Given the description of an element on the screen output the (x, y) to click on. 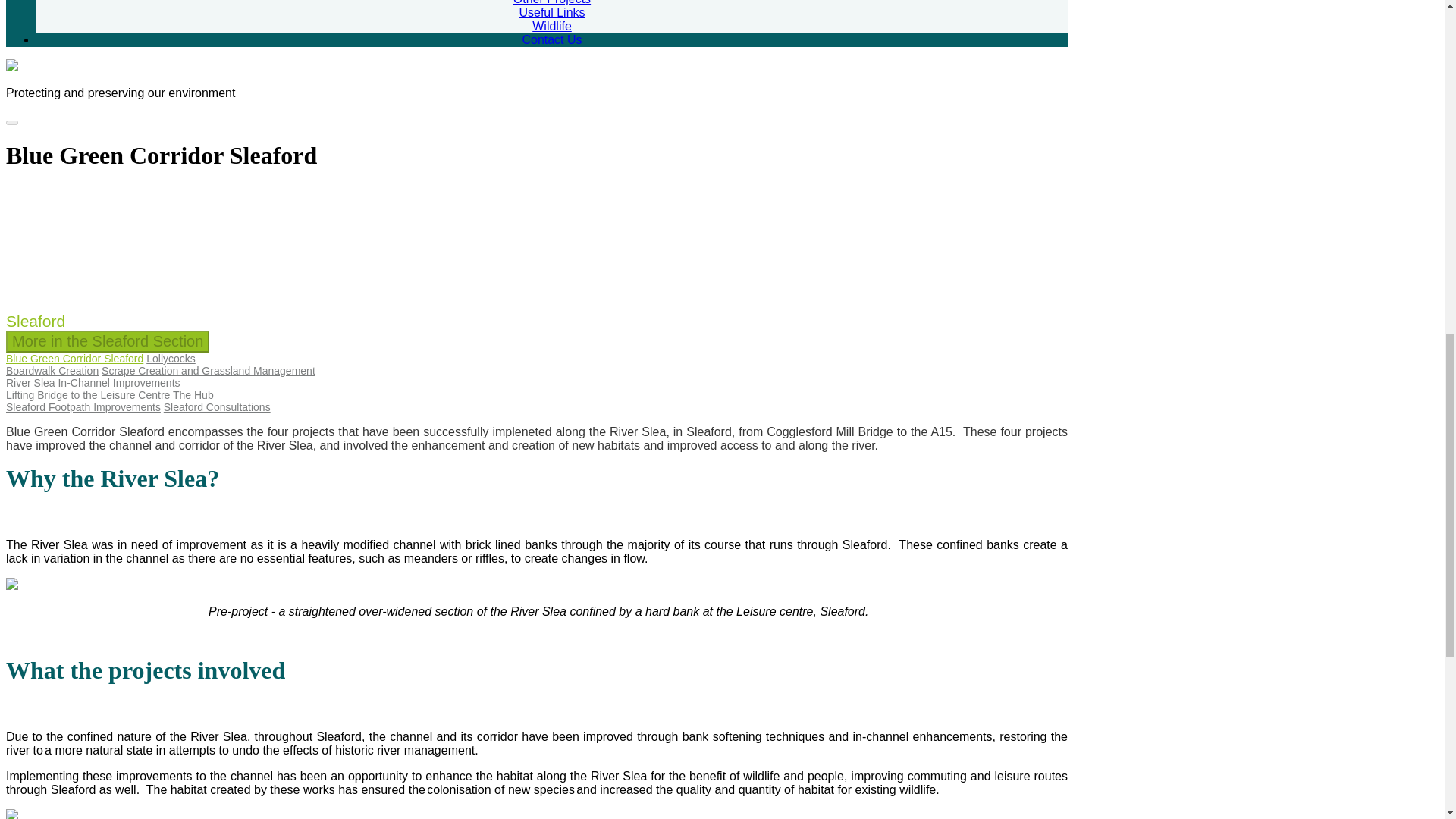
Useful Links (551, 11)
Other Projects (552, 2)
Lollycocks (171, 358)
Lifting Bridge to the Leisure Centre (87, 395)
Lollycocks (171, 358)
River Slea In-Channel Improvements (92, 382)
The Hub (193, 395)
Wildlife (552, 25)
Sleaford Footpath Improvements (82, 407)
Boardwalk Creation (52, 370)
Scrape Creation and Grassland Management (208, 370)
Blue Green Corridor Sleaford (73, 358)
Lifting Bridge to the Leisure Centre (87, 395)
The Hub (193, 395)
Scrape Creation and Grassland Management (208, 370)
